Given the description of an element on the screen output the (x, y) to click on. 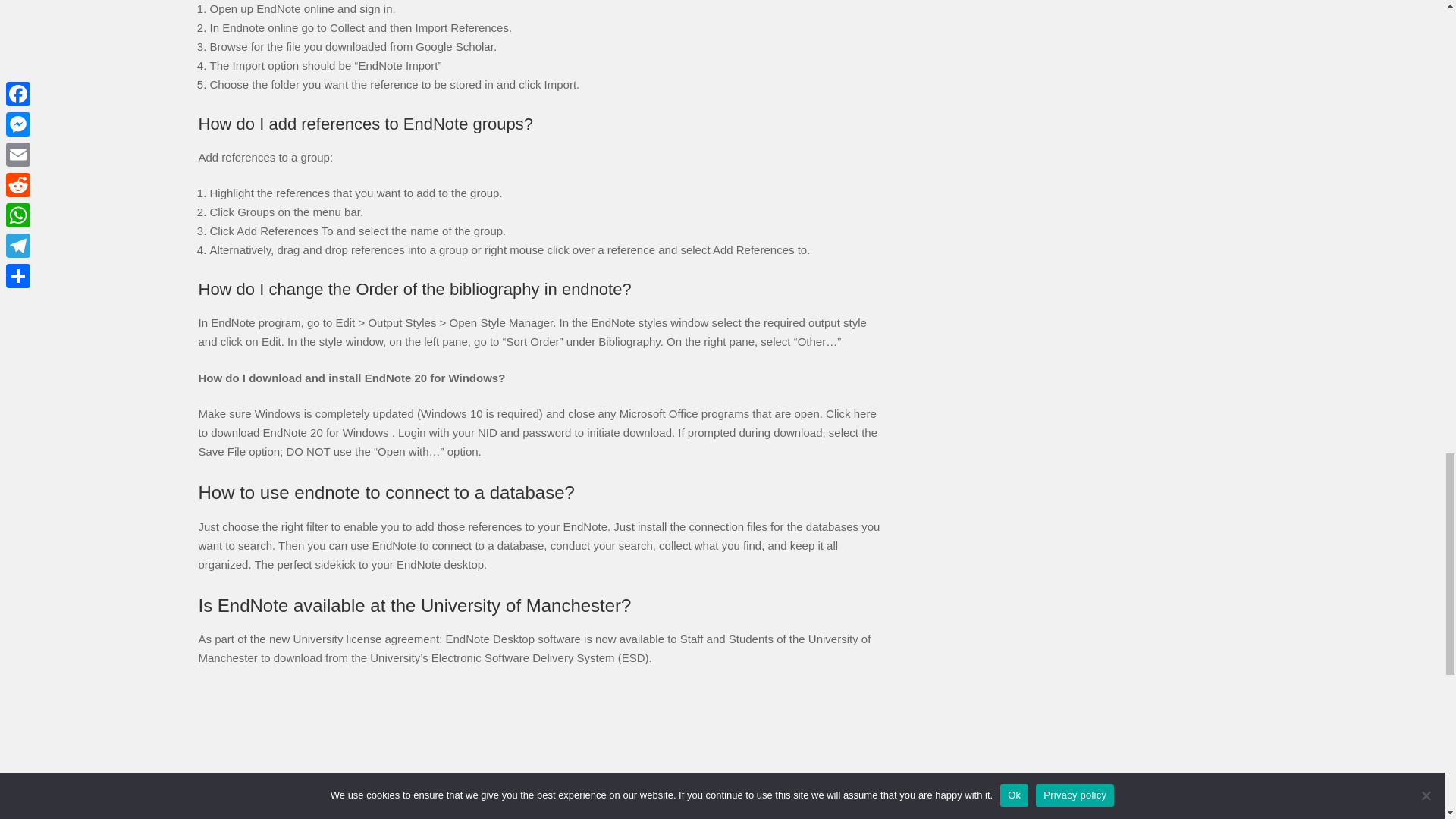
EndNote:  Adding References Manually (543, 751)
